Given the description of an element on the screen output the (x, y) to click on. 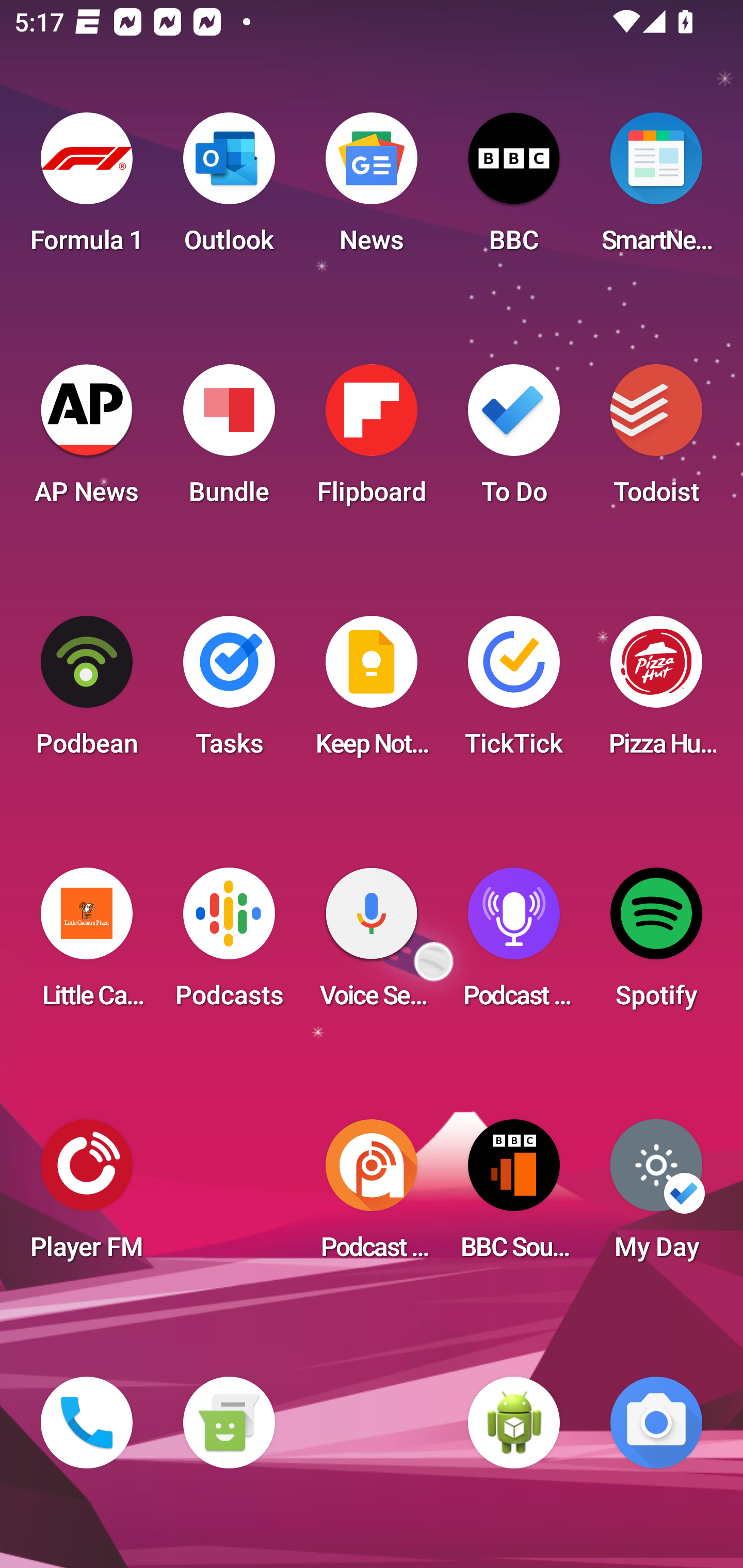
Formula 1 (86, 188)
Outlook (228, 188)
News (371, 188)
BBC (513, 188)
SmartNews (656, 188)
AP News (86, 440)
Bundle (228, 440)
Flipboard (371, 440)
To Do (513, 440)
Todoist (656, 440)
Podbean (86, 692)
Tasks (228, 692)
Keep Notes (371, 692)
TickTick (513, 692)
Pizza Hut HK & Macau (656, 692)
Little Caesars Pizza (86, 943)
Podcasts (228, 943)
Voice Search (371, 943)
Podcast Player (513, 943)
Spotify (656, 943)
Player FM (86, 1195)
Podcast Addict (371, 1195)
BBC Sounds (513, 1195)
My Day (656, 1195)
Phone (86, 1422)
Messaging (228, 1422)
WebView Browser Tester (513, 1422)
Camera (656, 1422)
